Given the description of an element on the screen output the (x, y) to click on. 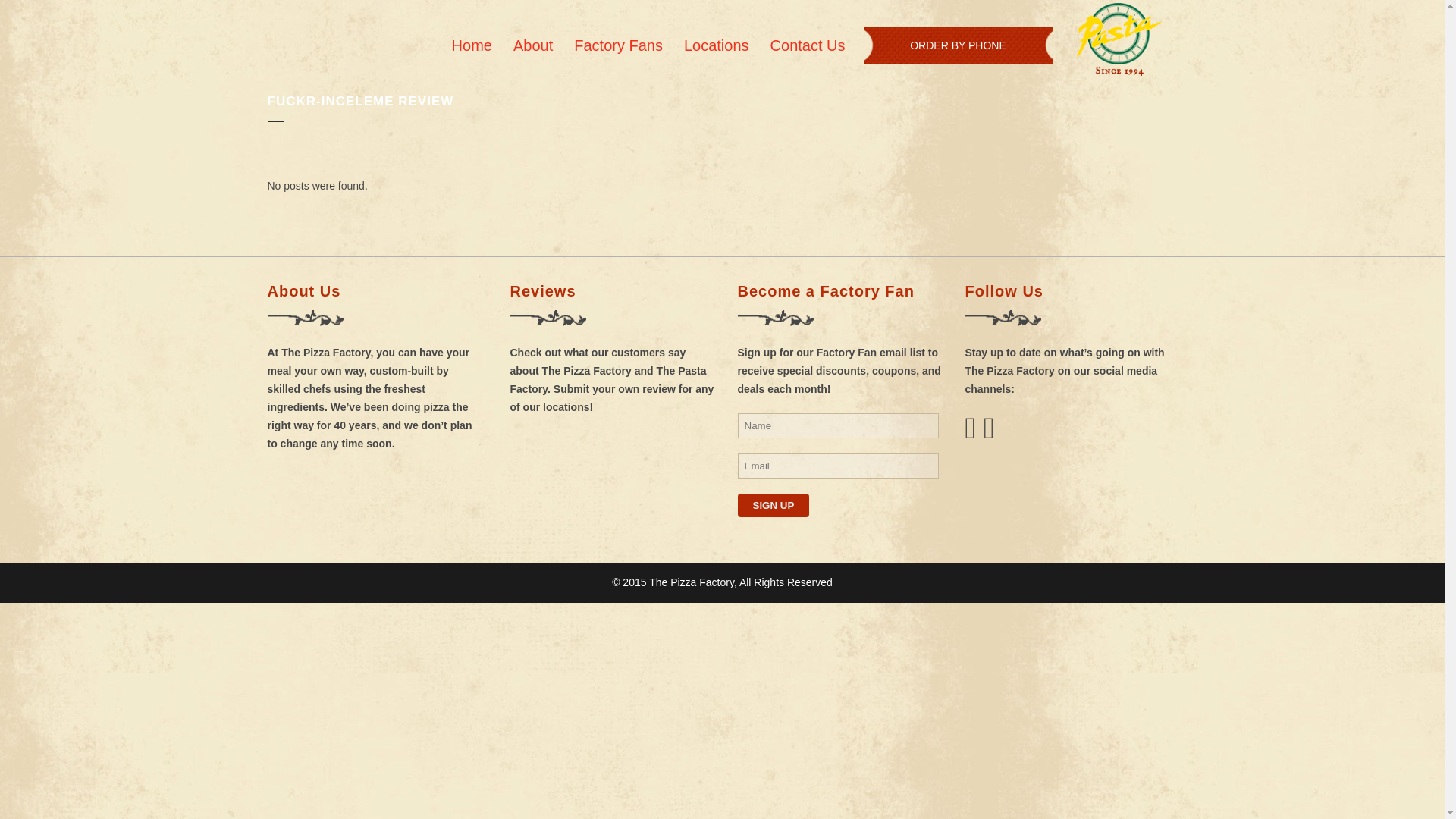
Contact Us (808, 45)
Factory Fans (617, 45)
Locations (716, 45)
SIGN UP (772, 504)
SIGN UP (772, 504)
ORDER BY PHONE (957, 45)
